Given the description of an element on the screen output the (x, y) to click on. 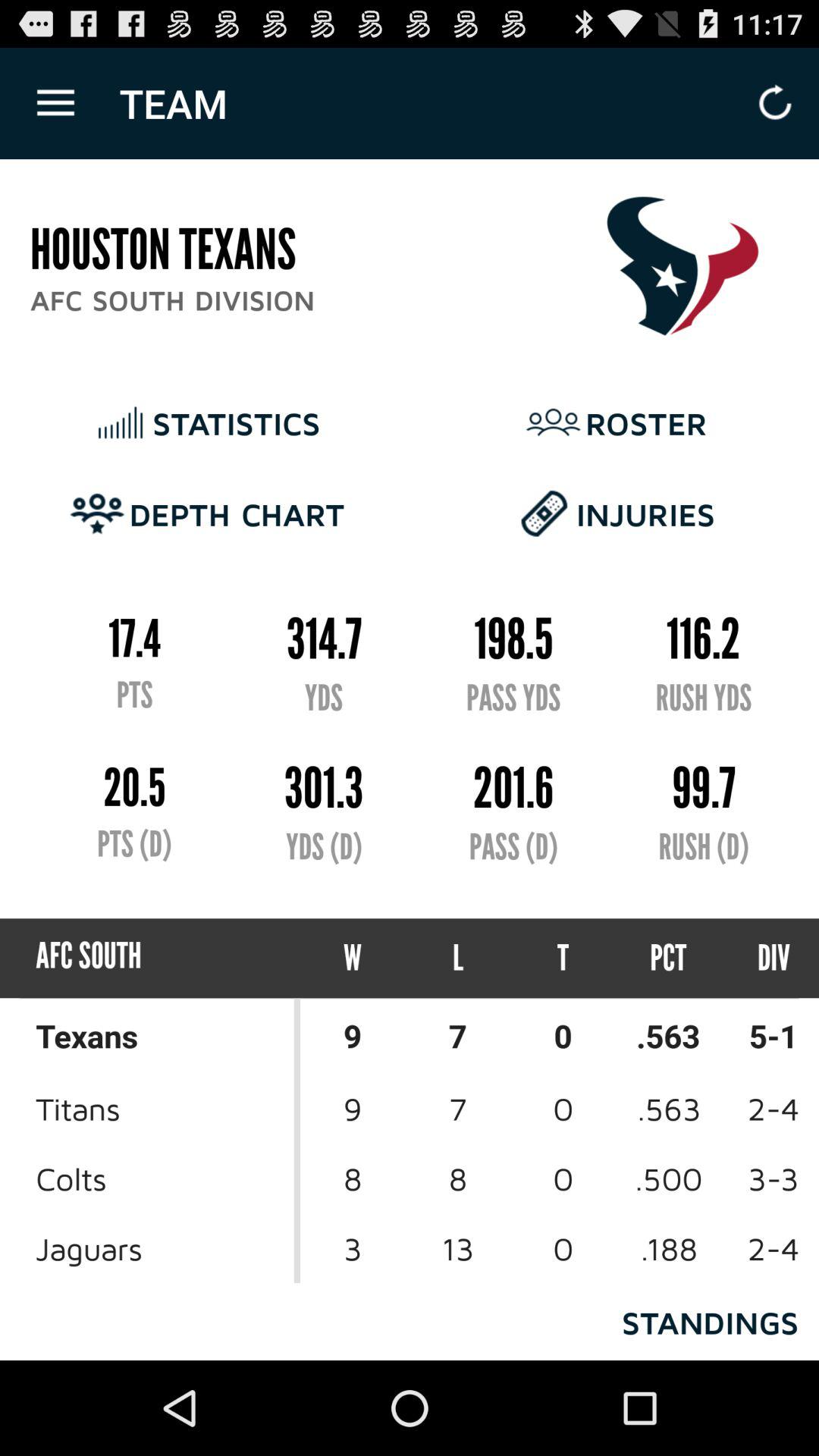
click the item next to div (668, 958)
